Given the description of an element on the screen output the (x, y) to click on. 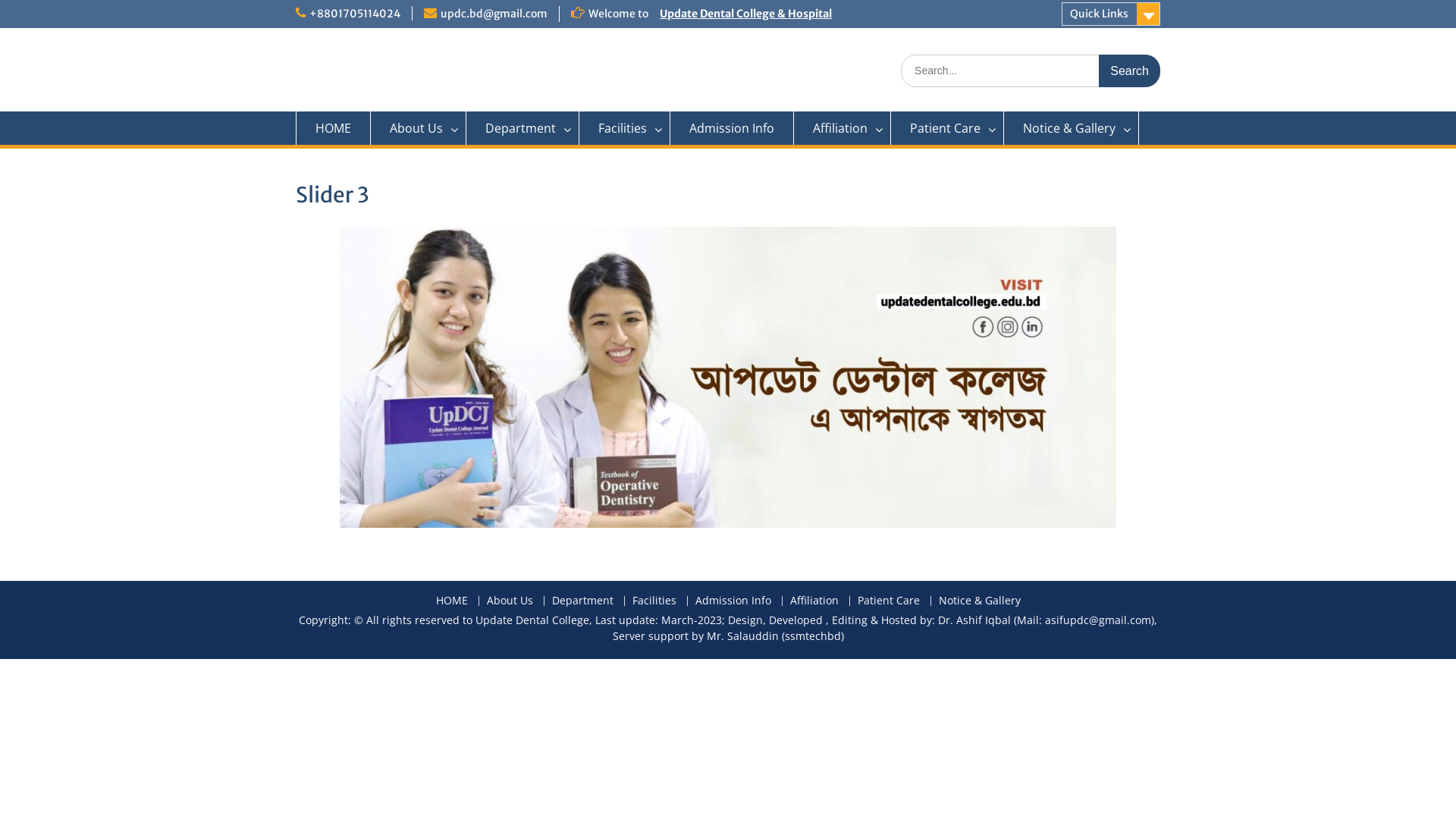
HOME Element type: text (450, 600)
Notice & Gallery Element type: text (1071, 127)
About Us Element type: text (418, 127)
HOME Element type: text (332, 127)
Admission Info Element type: text (731, 127)
Search for: Element type: hover (1030, 70)
+8801705114024 Element type: text (354, 13)
Search Element type: text (1129, 70)
Affiliation Element type: text (842, 127)
Notice & Gallery Element type: text (978, 600)
Quick Links Element type: text (1110, 13)
Facilities Element type: text (653, 600)
Patient Care Element type: text (888, 600)
About Us Element type: text (508, 600)
Department Element type: text (581, 600)
Department Element type: text (522, 127)
Facilities Element type: text (624, 127)
Affiliation Element type: text (813, 600)
updc.bd@gmail.com Element type: text (493, 13)
Patient Care Element type: text (947, 127)
Skip to content Element type: text (0, 0)
Update Dental College & Hospital Element type: text (745, 13)
Admission Info Element type: text (732, 600)
